Given the description of an element on the screen output the (x, y) to click on. 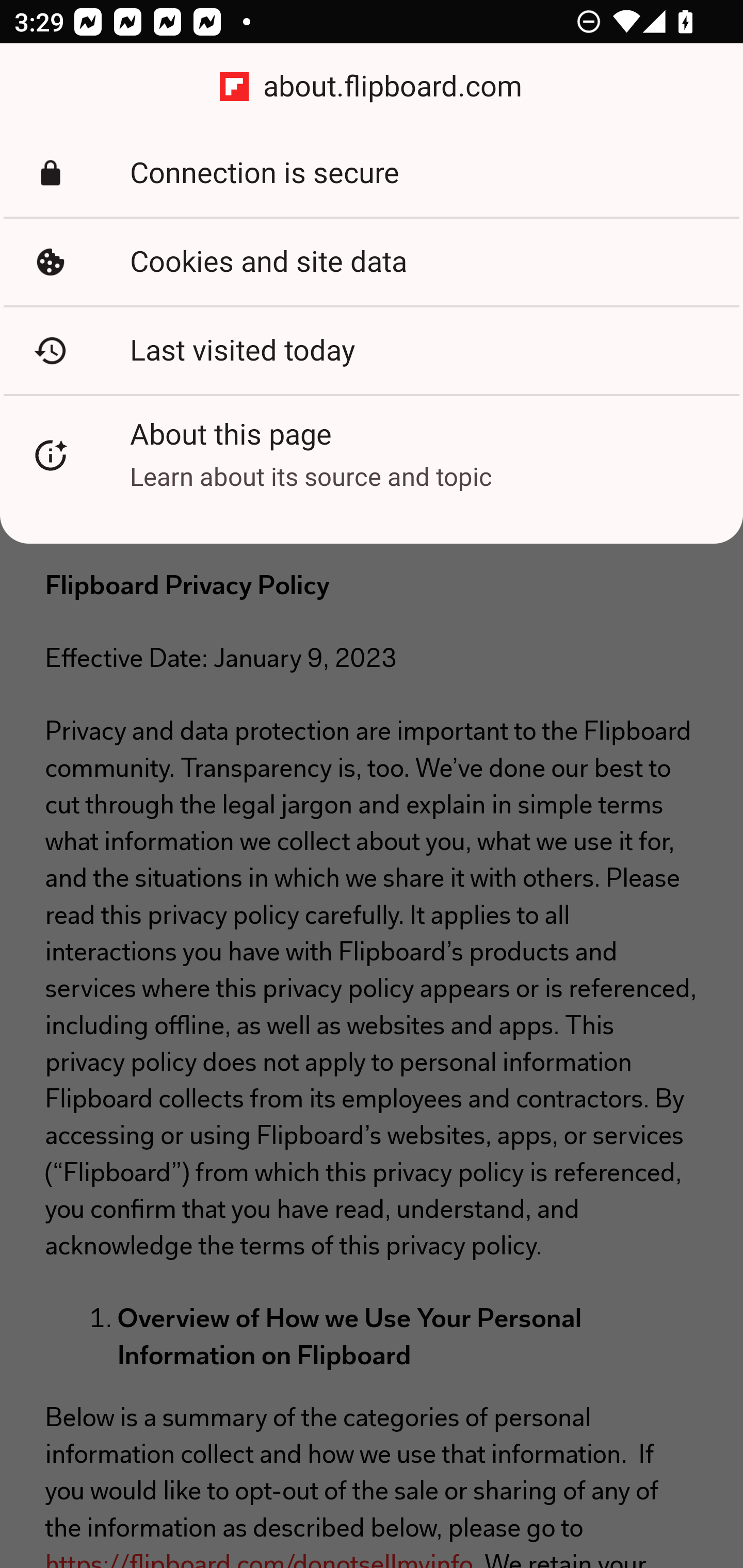
about.flipboard.com (371, 86)
Connection is secure (371, 173)
Cookies and site data (371, 261)
Last visited today (371, 350)
About this page Learn about its source and topic (371, 455)
